Given the description of an element on the screen output the (x, y) to click on. 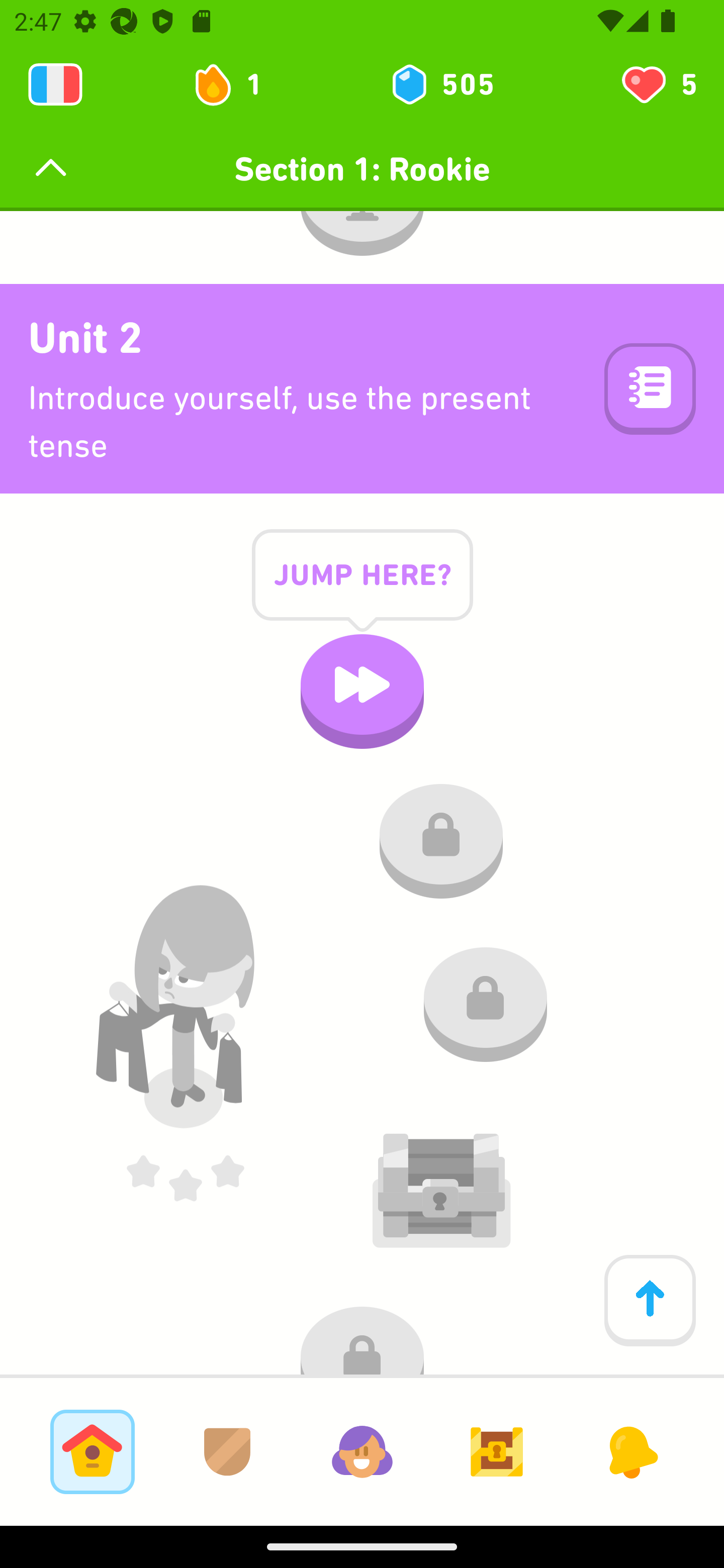
Learning 2131888976 (55, 84)
1 day streak 1 (236, 84)
505 (441, 84)
You have 5 hearts left 5 (657, 84)
Section 1: Rookie (362, 169)
JUMP HERE? (361, 589)
Learn Tab (91, 1451)
Leagues Tab (227, 1451)
Profile Tab (361, 1451)
Goals Tab (496, 1451)
News Tab (631, 1451)
